Given the description of an element on the screen output the (x, y) to click on. 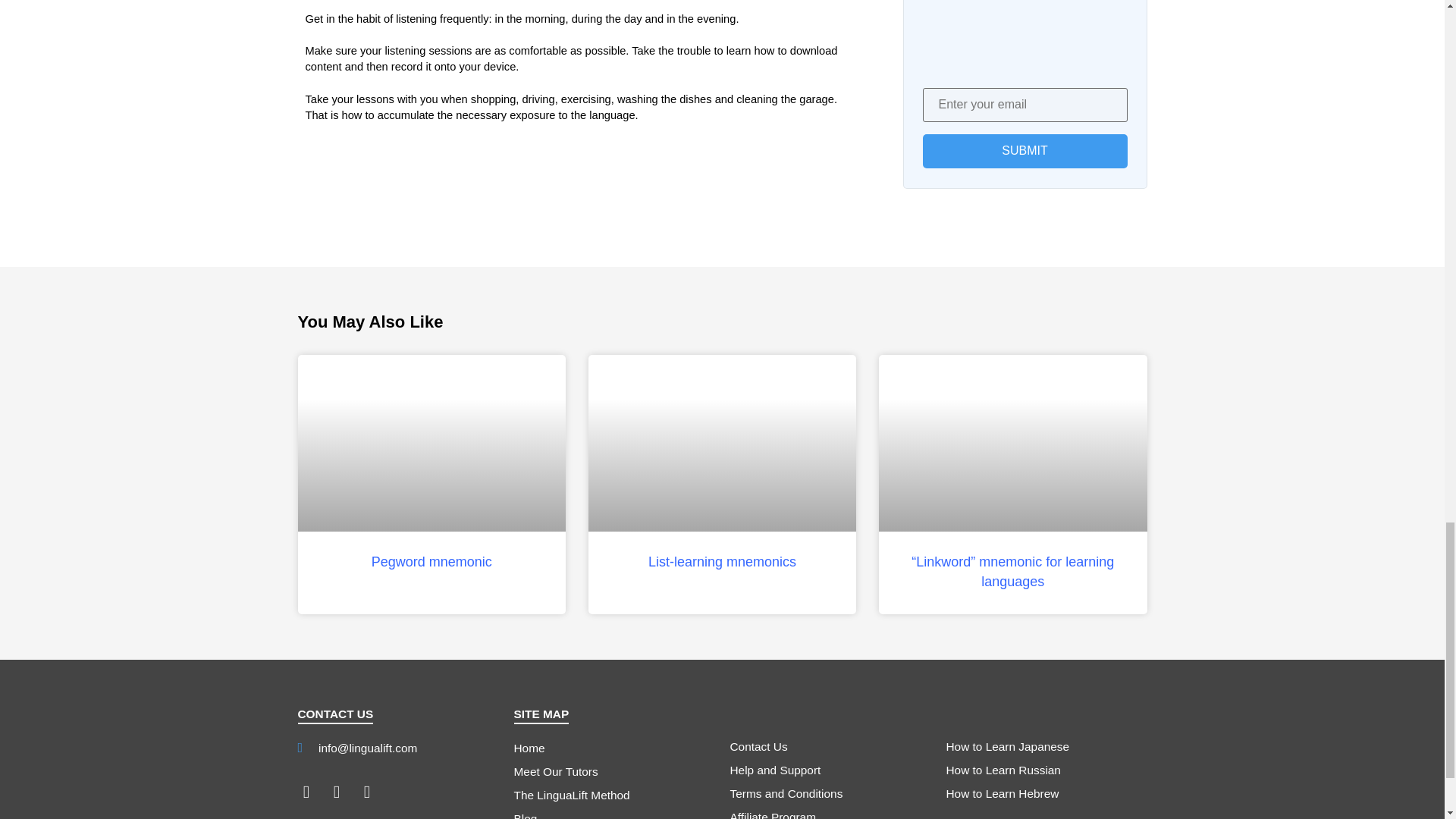
Pegword mnemonic (431, 561)
Submit (1023, 151)
Submit (1023, 151)
List-learning mnemonics (721, 561)
